Given the description of an element on the screen output the (x, y) to click on. 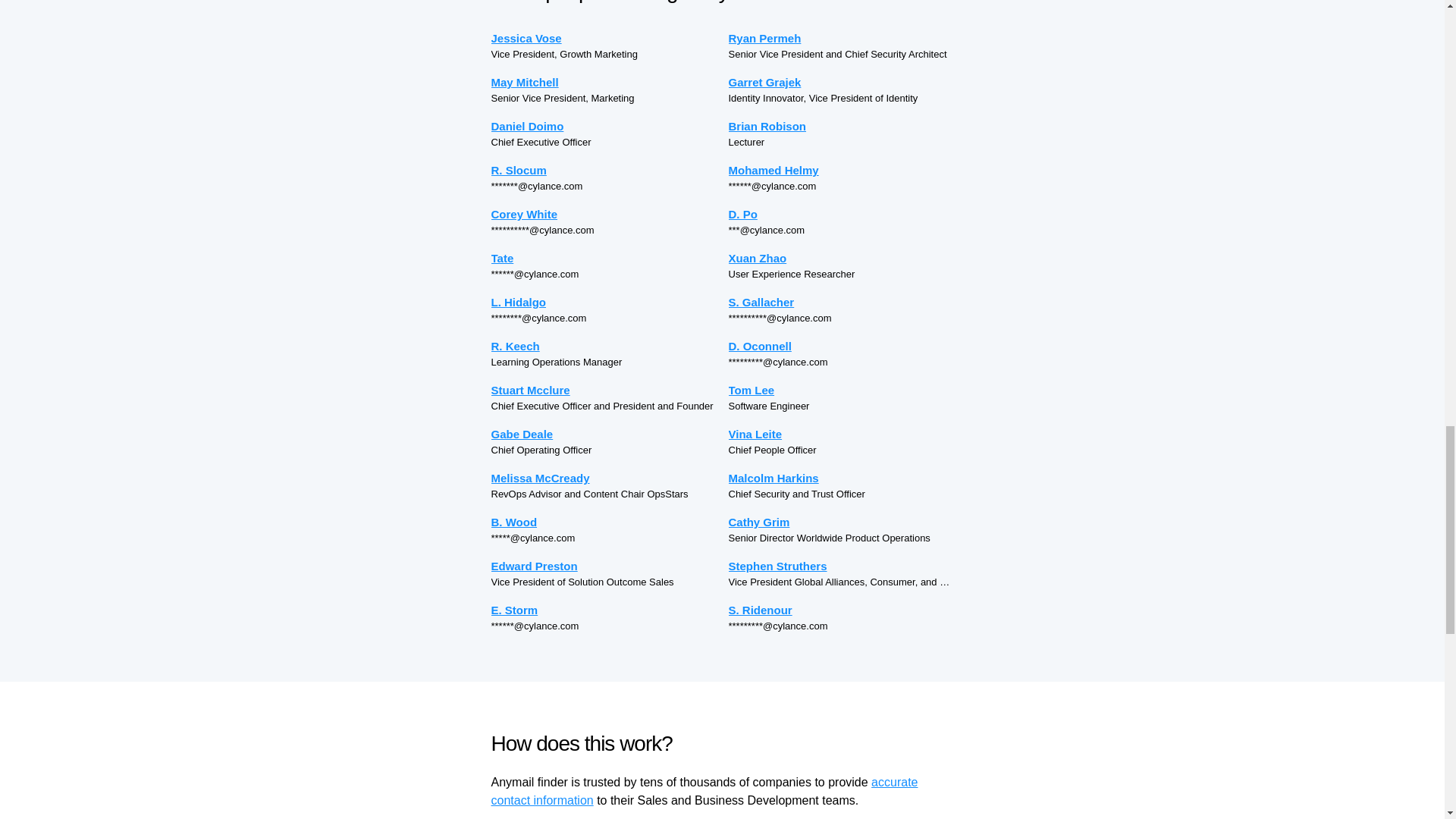
S. Ridenour (840, 610)
Tate (604, 257)
Garret Grajek (840, 81)
Stuart Mcclure (604, 389)
S. Gallacher (840, 302)
R. Keech (604, 345)
Edward Preston (604, 565)
May Mitchell (604, 81)
Gabe Deale (604, 434)
Melissa McCready (604, 477)
D. Po (840, 213)
B. Wood (604, 521)
Ryan Permeh (840, 37)
L. Hidalgo (604, 302)
Brian Robison (840, 126)
